Given the description of an element on the screen output the (x, y) to click on. 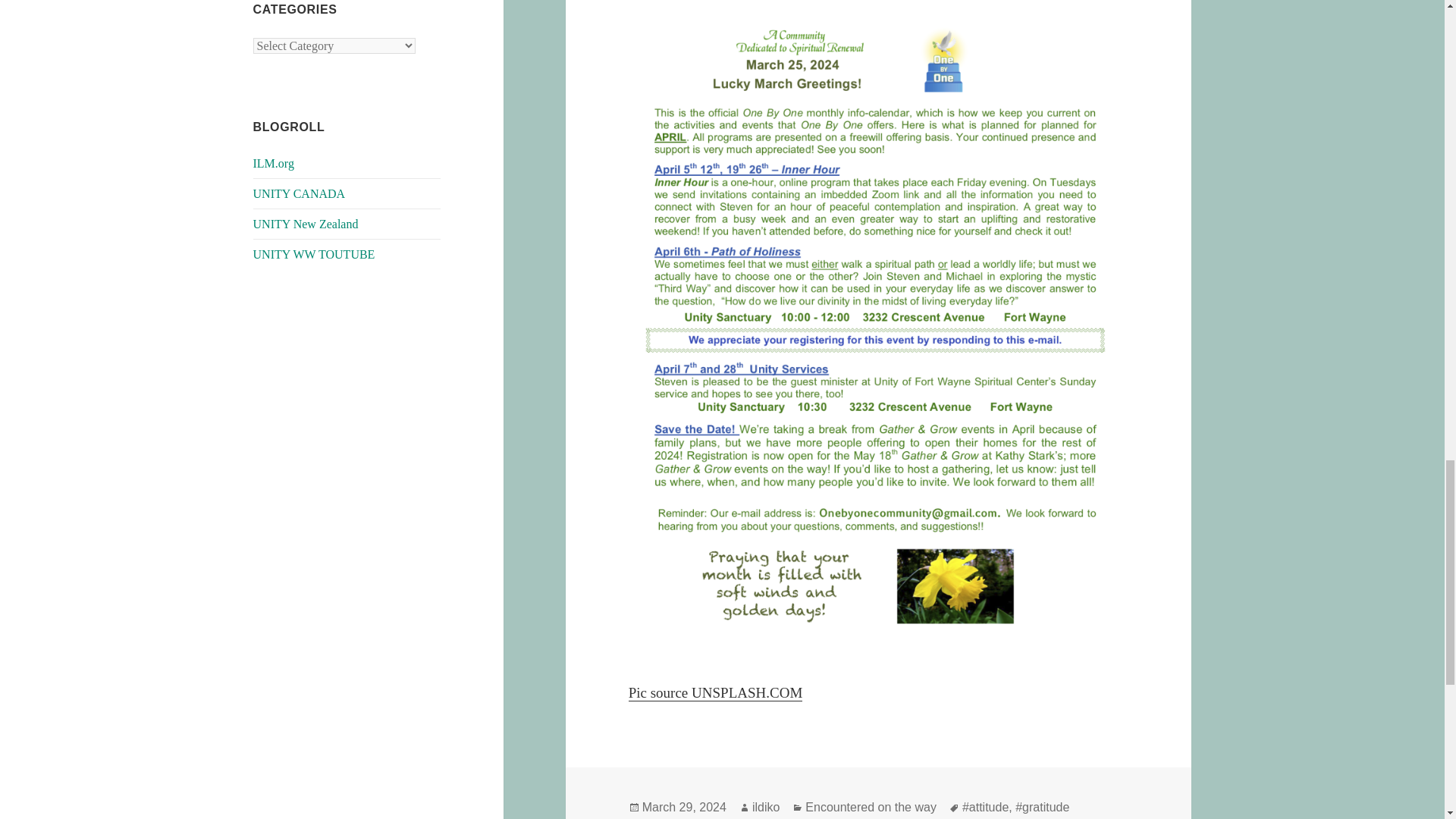
UNITY CANADA (299, 193)
ildiko (765, 807)
Encountered on the way (870, 807)
Pic source UNSPLASH.COM (715, 692)
UNITY WW TOUTUBE (314, 254)
UNITY New Zealand (305, 223)
ILM.org (273, 163)
March 29, 2024 (684, 807)
